Given the description of an element on the screen output the (x, y) to click on. 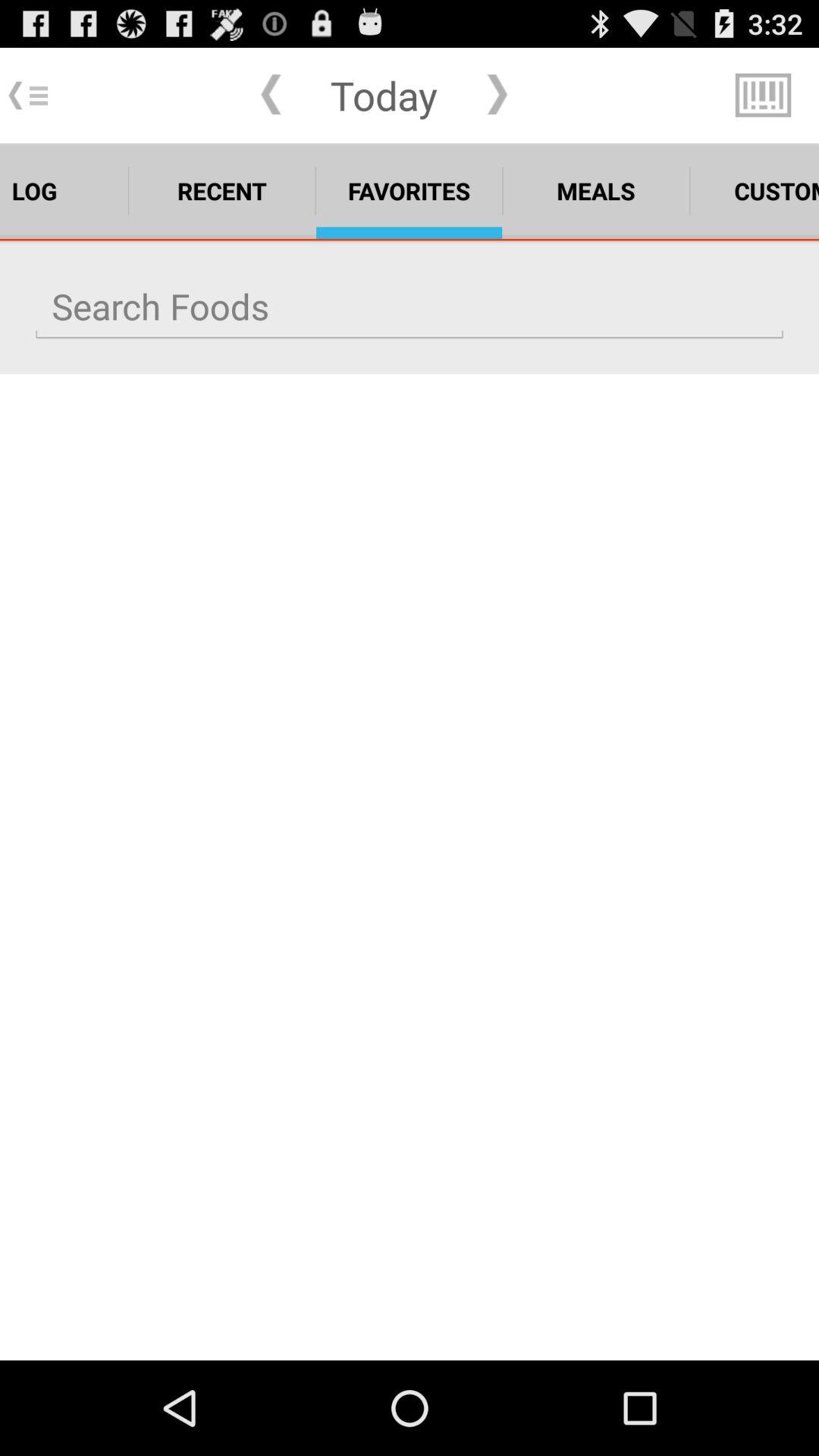
foods search query input (409, 306)
